Given the description of an element on the screen output the (x, y) to click on. 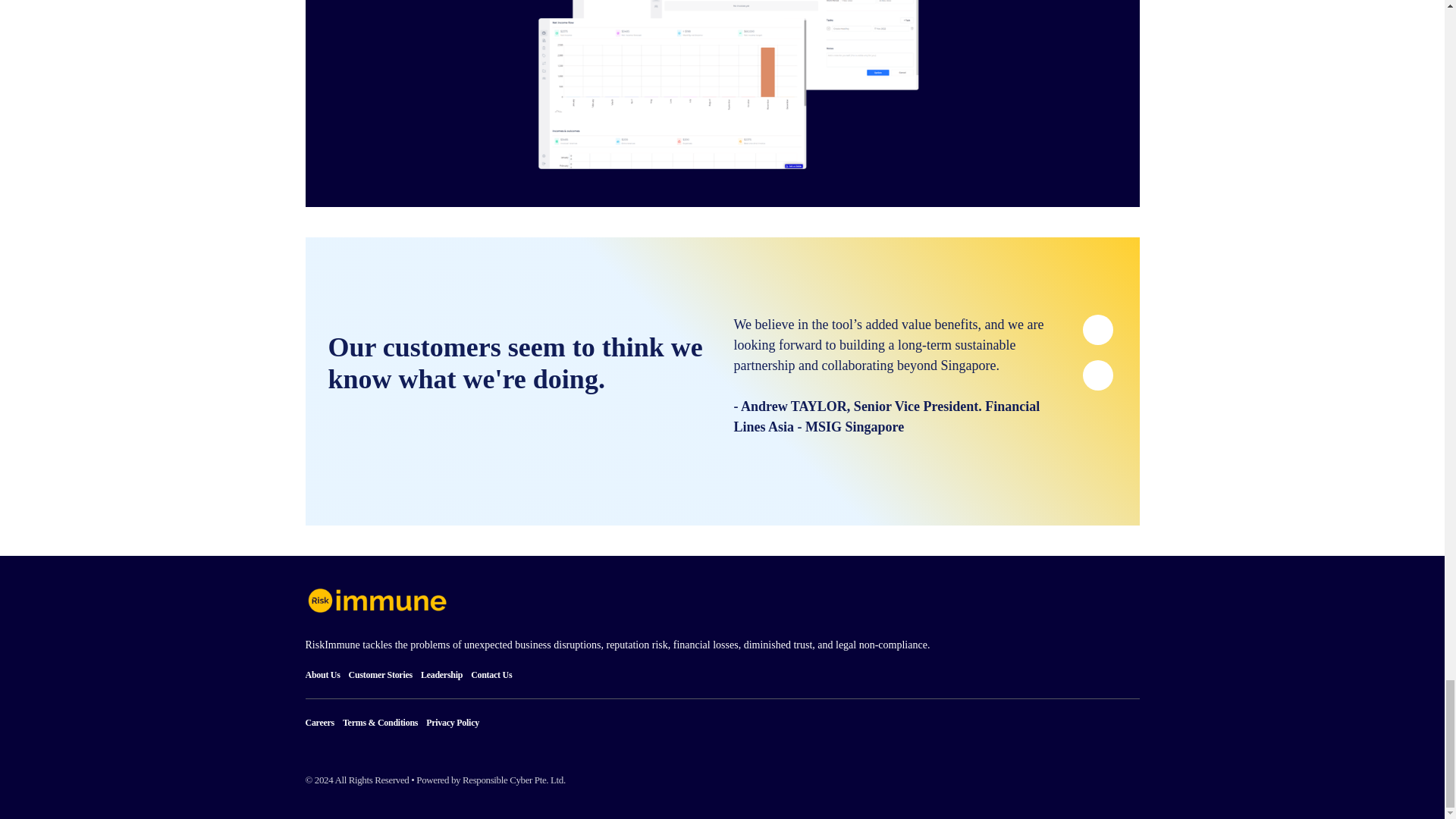
Privacy Policy (456, 722)
Customer Stories (384, 674)
About Us (325, 674)
Contact Us (494, 674)
Careers (323, 722)
Leadership (445, 674)
